Given the description of an element on the screen output the (x, y) to click on. 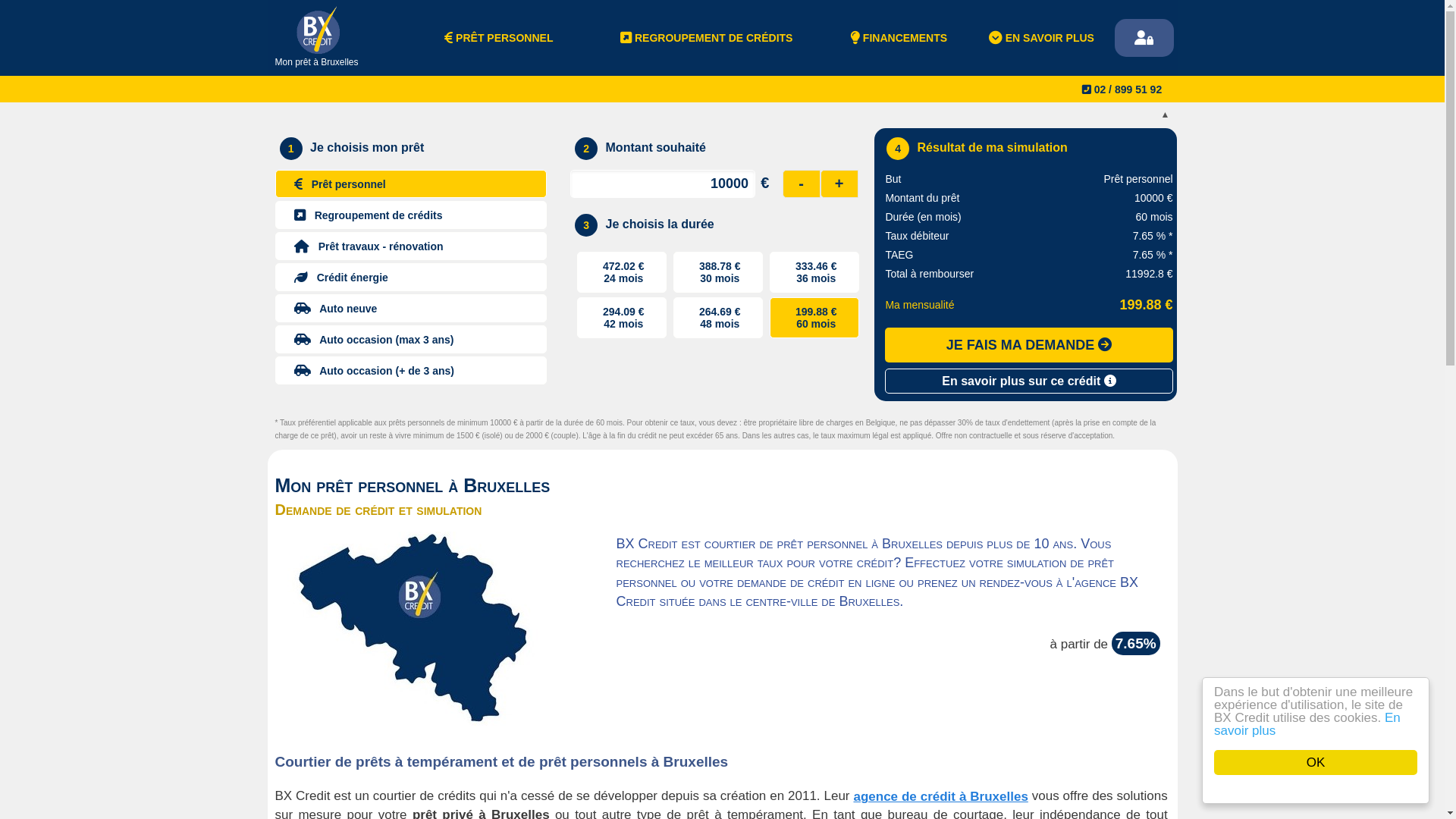
+ Element type: text (839, 183)
EN SAVOIR PLUS Element type: text (1041, 37)
02 / 899 51 92 Element type: text (1119, 88)
- Element type: text (801, 183)
FINANCEMENTS Element type: text (898, 37)
        Auto occasion (max 3 ans) Element type: text (411, 337)
JE FAIS MA DEMANDE Element type: text (1028, 344)
En savoir plus Element type: text (1307, 723)
OK Element type: text (1315, 762)
        Auto occasion (+ de 3 ans) Element type: text (411, 368)
        Auto occasion (+ de 3 ans) Element type: text (410, 370)
        Auto neuve Element type: text (410, 308)
        Auto neuve Element type: text (411, 306)
        Auto occasion (max 3 ans) Element type: text (410, 339)
